Given the description of an element on the screen output the (x, y) to click on. 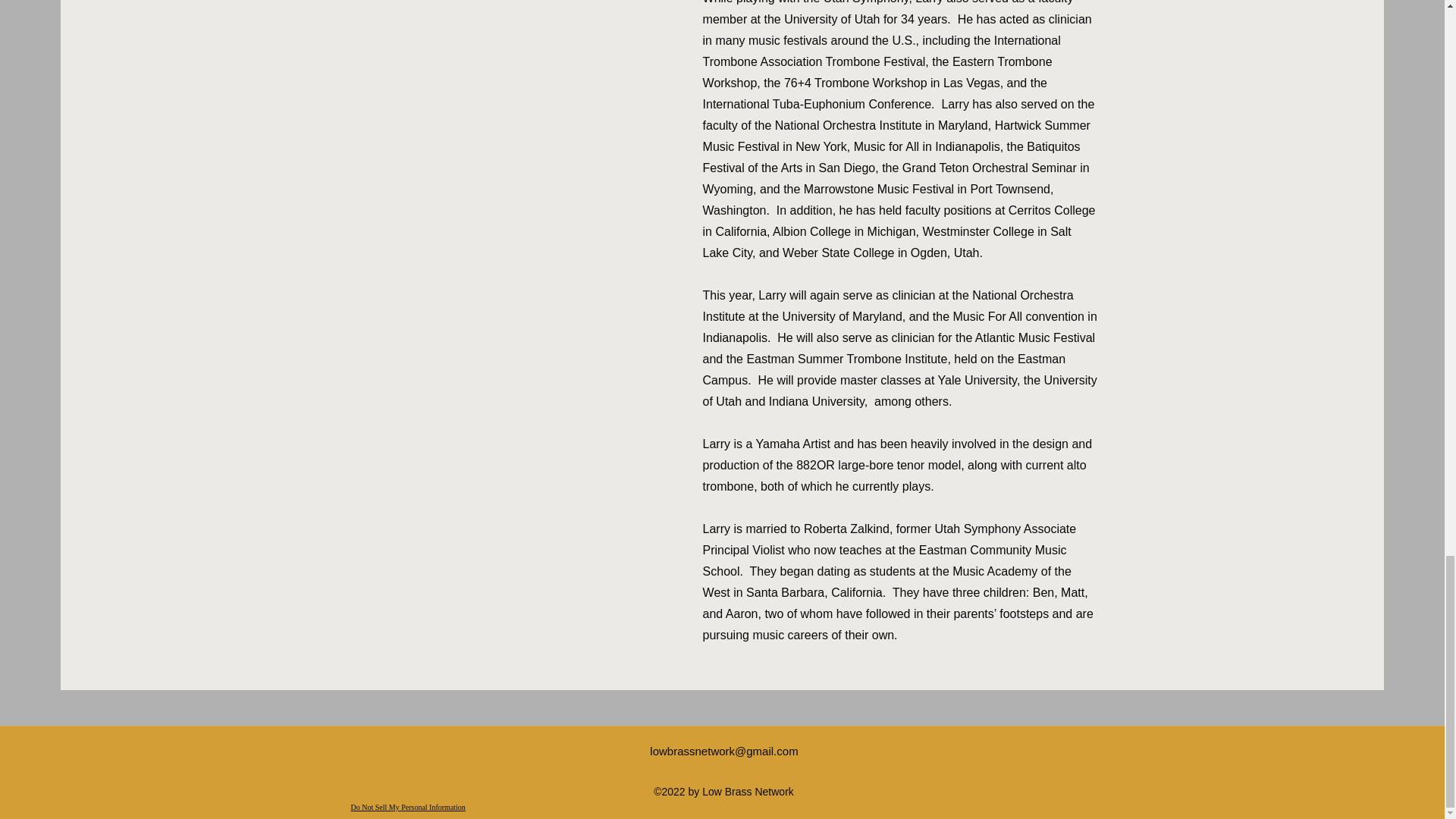
Do Not Sell My Personal Information (407, 807)
